Given the description of an element on the screen output the (x, y) to click on. 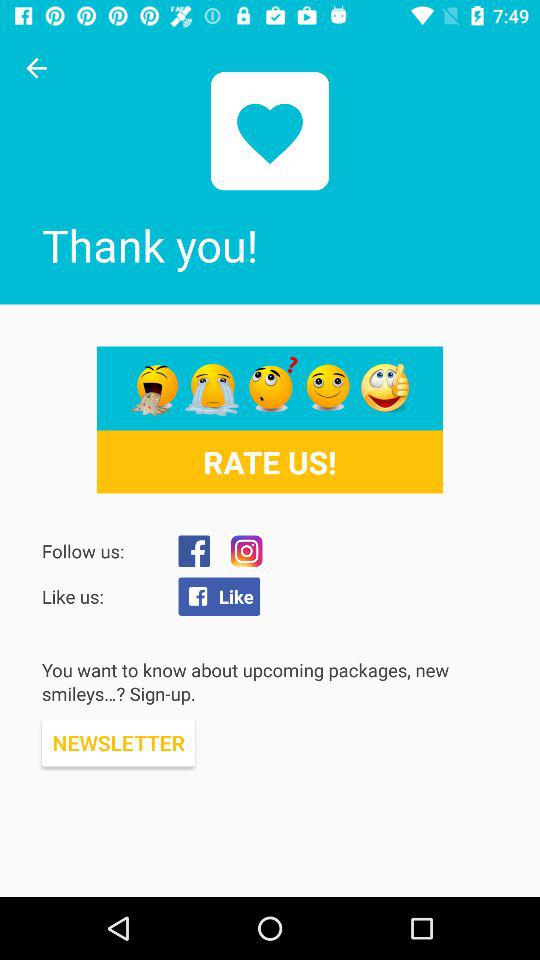
go to instagram page (246, 551)
